Given the description of an element on the screen output the (x, y) to click on. 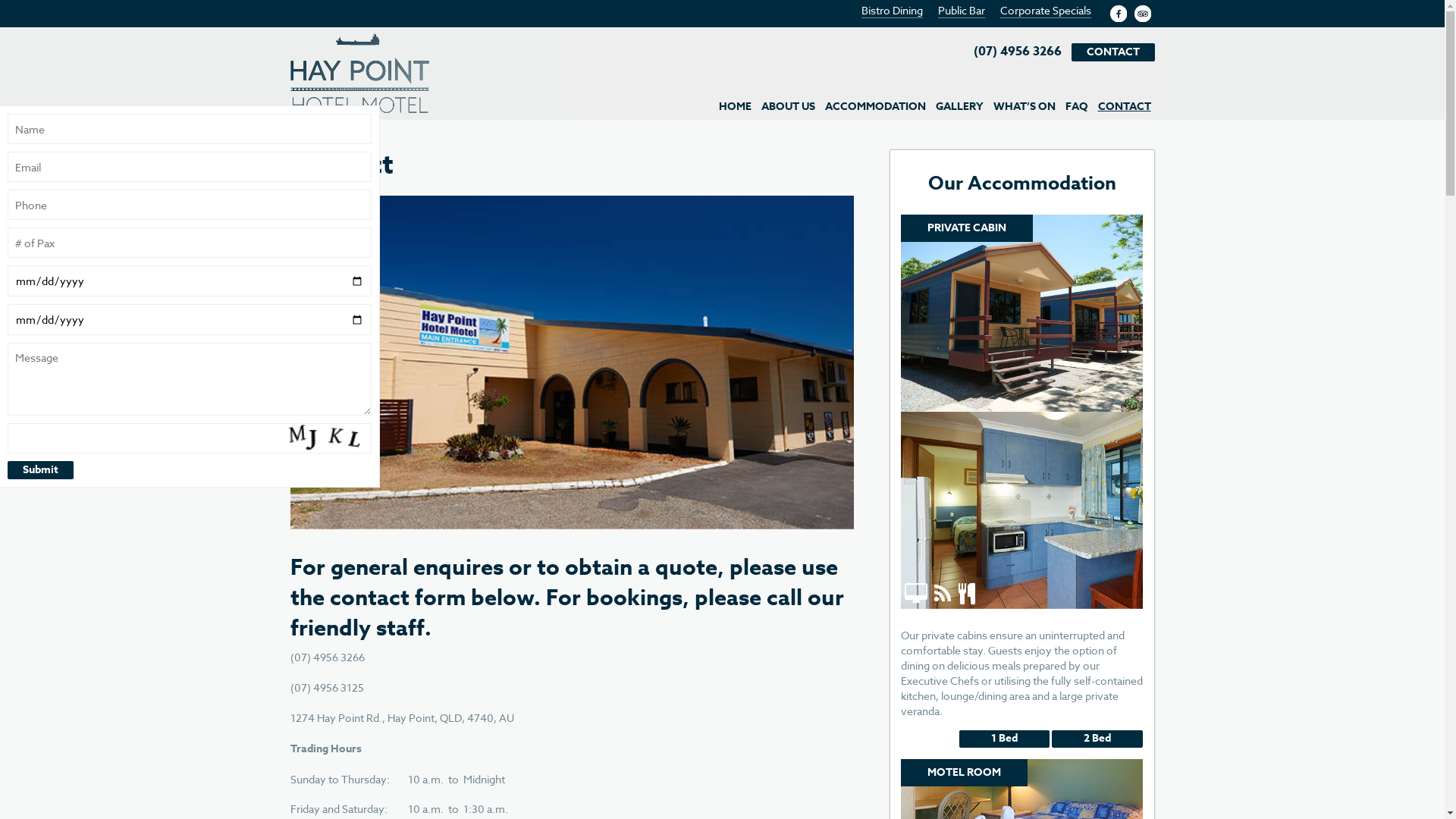
GALLERY Element type: text (959, 106)
Bistro Dining Element type: text (891, 10)
ABOUT US Element type: text (788, 106)
1 Bed Element type: text (1004, 738)
CONTACT Element type: text (1112, 52)
2 Bed Element type: text (1096, 738)
(07) 4956 3266 Element type: text (1017, 51)
ACCOMMODATION Element type: text (875, 106)
HOME Element type: text (735, 106)
Submit Element type: text (40, 470)
Corporate Specials Element type: text (1044, 10)
Kitchen Element type: hover (965, 615)
TV Element type: hover (917, 615)
Public Bar Element type: text (960, 10)
FAQ Element type: text (1076, 106)
CONTACT Element type: text (1124, 106)
Wifi Element type: hover (942, 615)
